Given the description of an element on the screen output the (x, y) to click on. 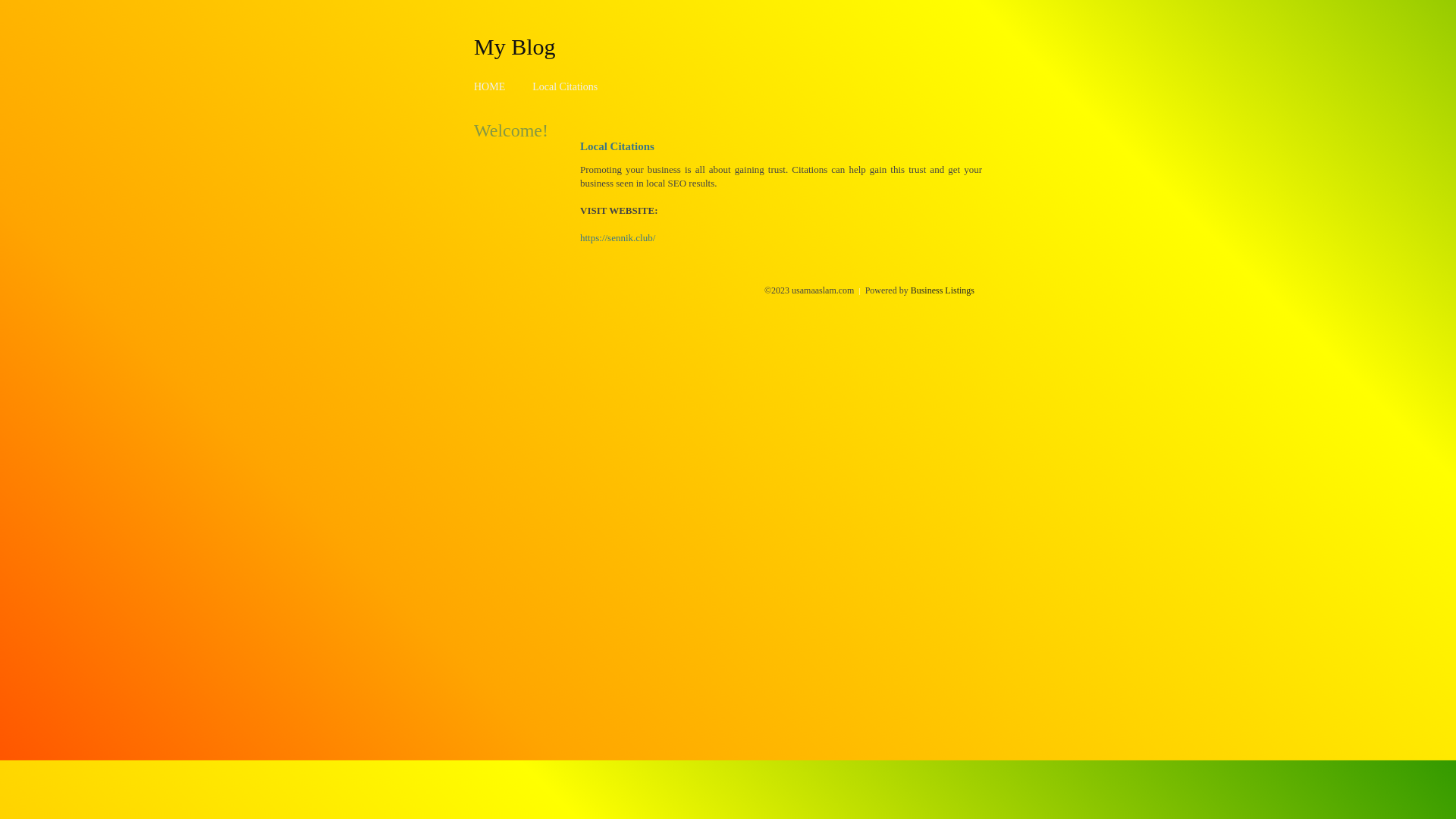
Business Listings Element type: text (942, 290)
My Blog Element type: text (514, 46)
Local Citations Element type: text (564, 86)
https://sennik.club/ Element type: text (617, 237)
HOME Element type: text (489, 86)
